Given the description of an element on the screen output the (x, y) to click on. 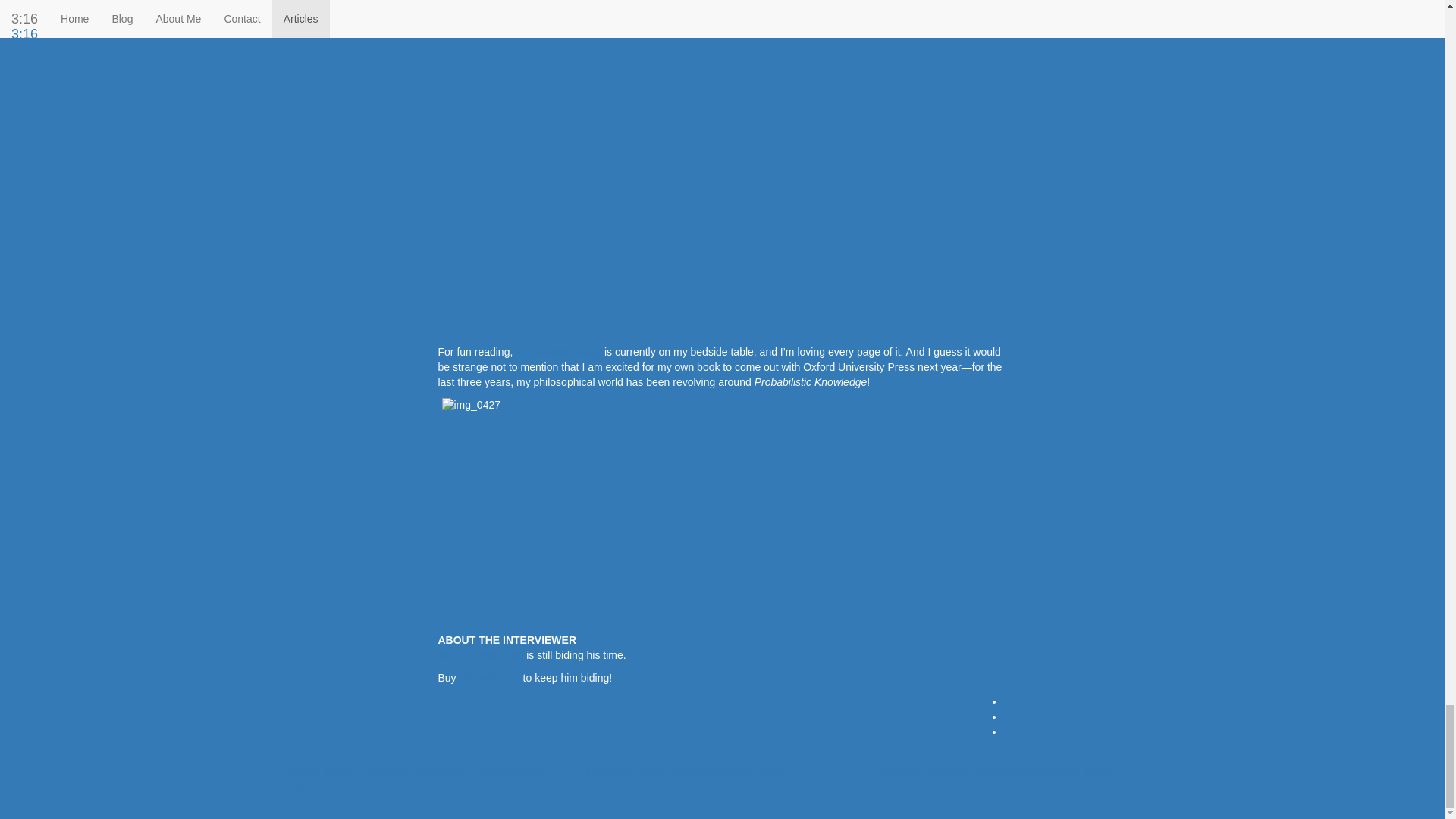
Normative Webs, Thomas Reid and Liturgy (686, 770)
Global Justice, Trade and Philosophy ... and Nietzsche Too (418, 778)
The Minority Body (558, 351)
Precarity and other Feminist Philosophical Issues (996, 770)
Richard Marshall (481, 654)
his book here (491, 677)
